Given the description of an element on the screen output the (x, y) to click on. 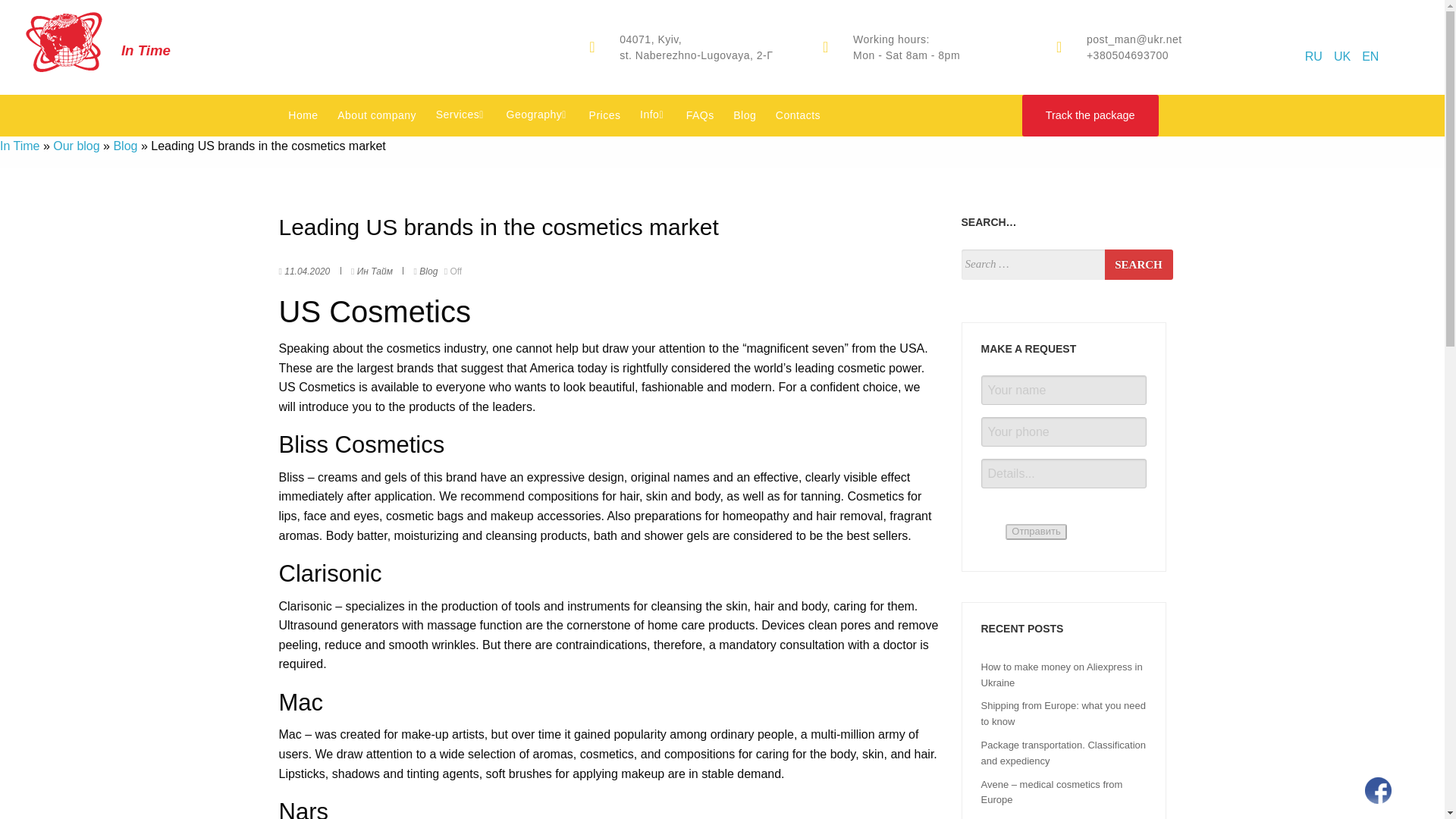
Services (461, 115)
Search (1137, 264)
Track the package (1090, 115)
In Time (75, 29)
RU (1313, 56)
In Time (19, 145)
Search (1137, 264)
EN (1369, 56)
About company (376, 115)
Contacts (797, 115)
